Given the description of an element on the screen output the (x, y) to click on. 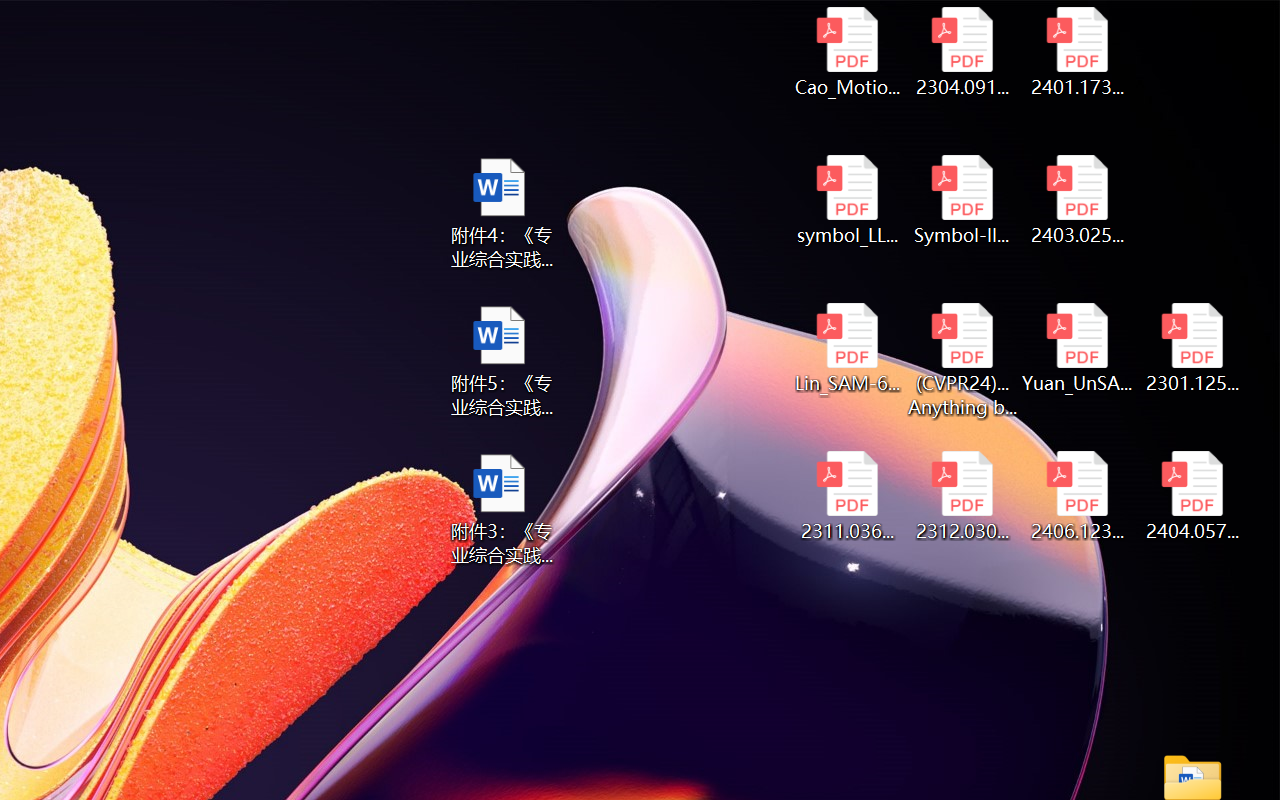
2304.09121v3.pdf (962, 52)
2401.17399v1.pdf (1077, 52)
2404.05719v1.pdf (1192, 496)
2312.03032v2.pdf (962, 496)
2311.03658v2.pdf (846, 496)
2406.12373v2.pdf (1077, 496)
(CVPR24)Matching Anything by Segmenting Anything.pdf (962, 360)
Symbol-llm-v2.pdf (962, 200)
2301.12597v3.pdf (1192, 348)
2403.02502v1.pdf (1077, 200)
